Given the description of an element on the screen output the (x, y) to click on. 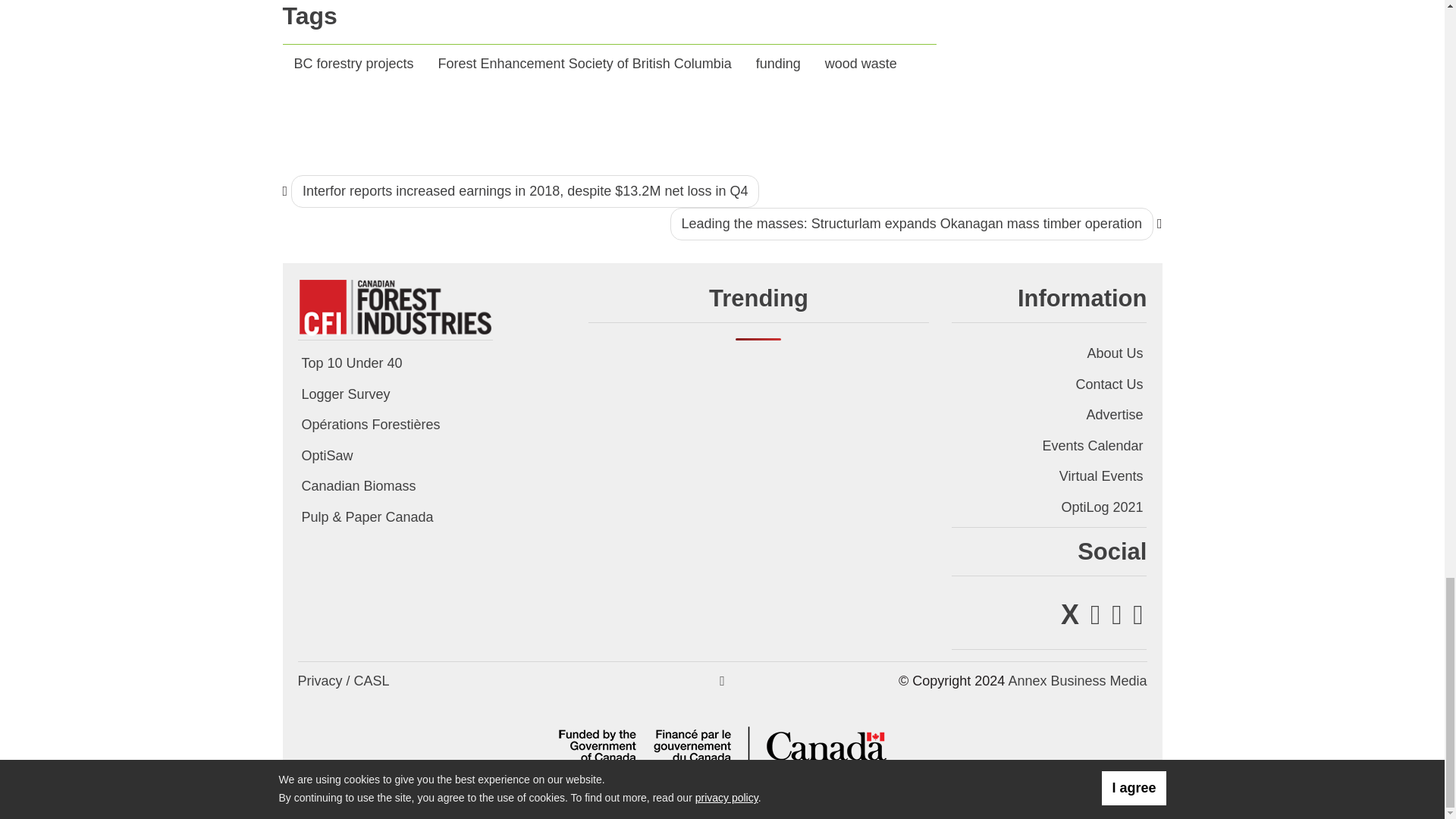
Wood Business (395, 305)
Annex Business Media (1077, 680)
